Given the description of an element on the screen output the (x, y) to click on. 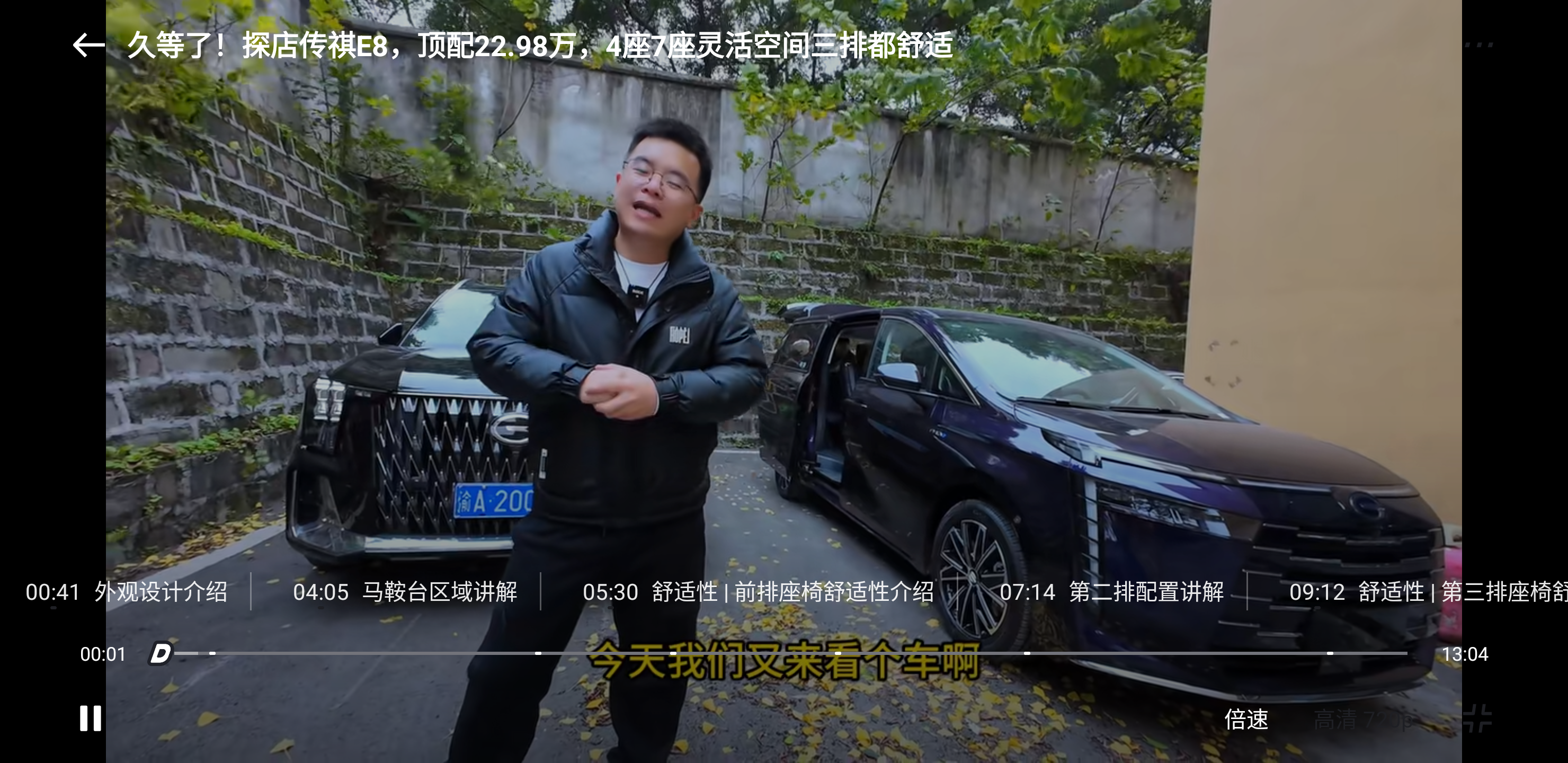
 (89, 44)
 (1478, 44)
00:41 外观设计介绍 (125, 591)
04:05 马鞍台区域讲解 (404, 591)
05:30 舒适性 | 前排座椅舒适性介绍 (757, 591)
07:14 第二排配置讲解 (1110, 591)
09:12 舒适性 | 第三排座椅舒适性介绍 (1415, 591)
 (90, 718)
 (1476, 718)
倍速 (1246, 718)
高清 720p (1363, 718)
